Given the description of an element on the screen output the (x, y) to click on. 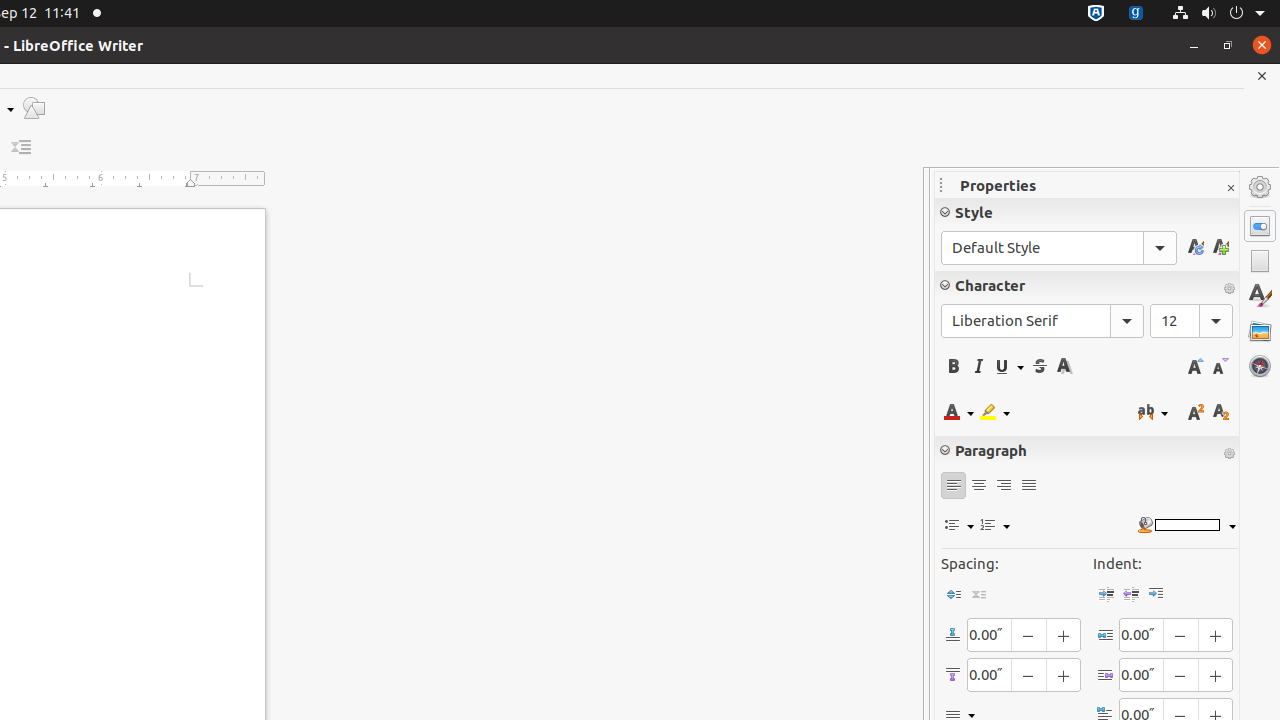
Properties Element type: radio-button (1260, 226)
Character Spacing Element type: push-button (1153, 412)
Page Element type: radio-button (1260, 261)
Draw Functions Element type: push-button (33, 108)
:1.72/StatusNotifierItem Element type: menu (1096, 13)
